Given the description of an element on the screen output the (x, y) to click on. 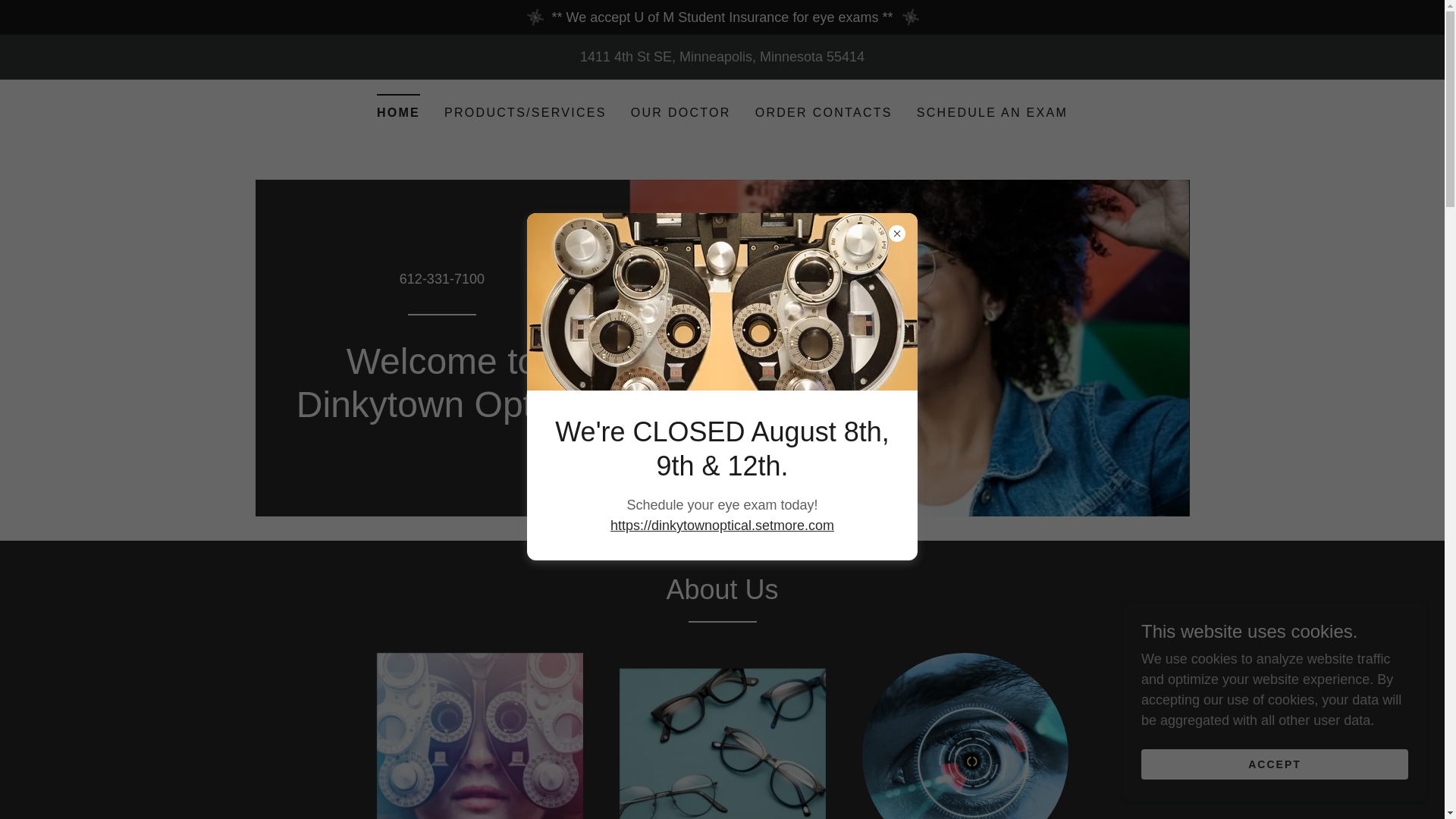
SCHEDULE AN EXAM (991, 112)
ORDER CONTACTS (823, 112)
ACCEPT (1274, 764)
HOME (398, 108)
OUR DOCTOR (680, 112)
612-331-7100 (441, 278)
